Given the description of an element on the screen output the (x, y) to click on. 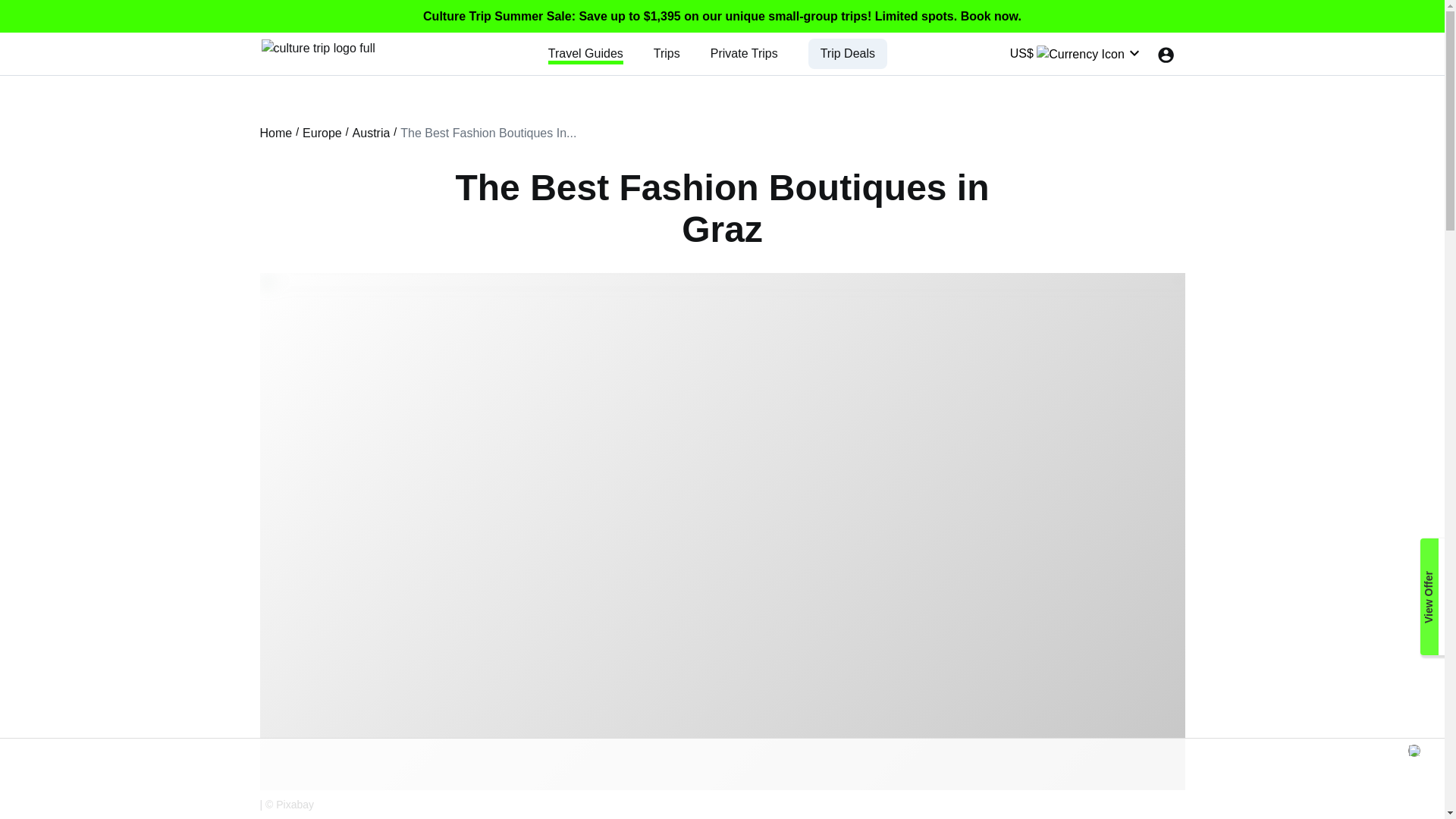
The Best Fashion Boutiques In... (488, 133)
Private Trips (743, 53)
Private Trips (743, 53)
Austria (371, 133)
Trips (666, 53)
The Culture Trip (317, 47)
Travel Guides (585, 53)
Travel Guides (585, 53)
Trip Deals (848, 53)
Trip Deals (848, 53)
Europe (322, 133)
Trips (666, 53)
Home (275, 133)
